Given the description of an element on the screen output the (x, y) to click on. 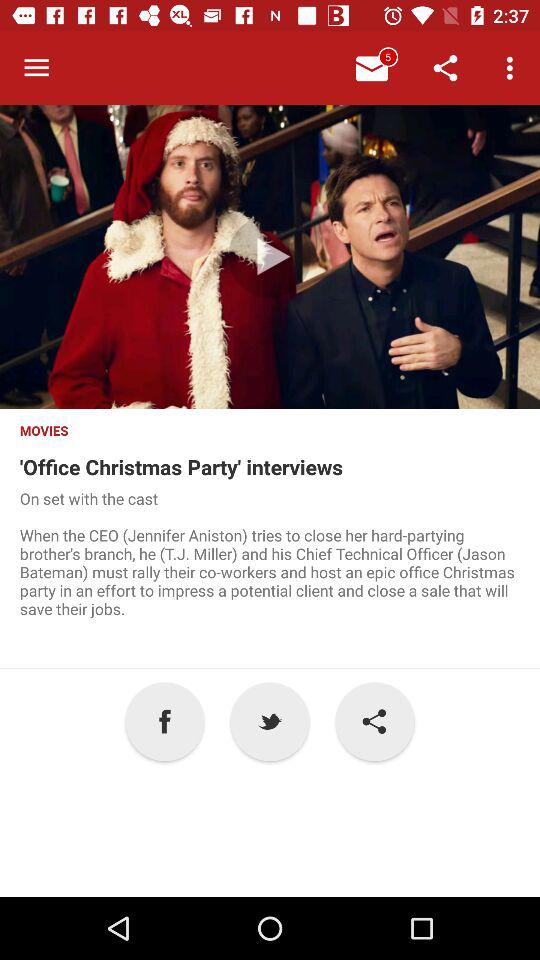
open the item at the bottom right corner (374, 721)
